Given the description of an element on the screen output the (x, y) to click on. 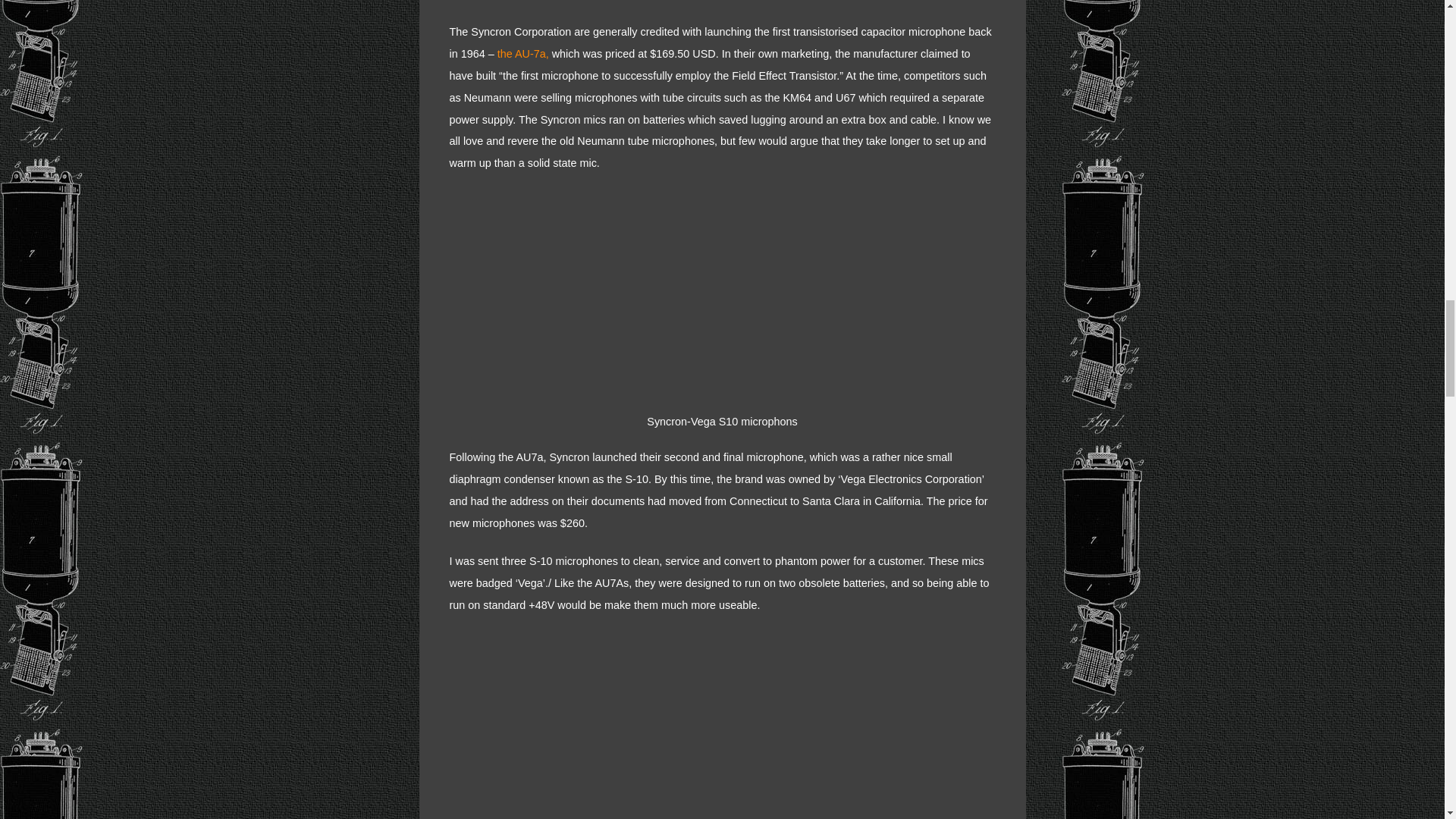
the AU-7a, (521, 53)
